Given the description of an element on the screen output the (x, y) to click on. 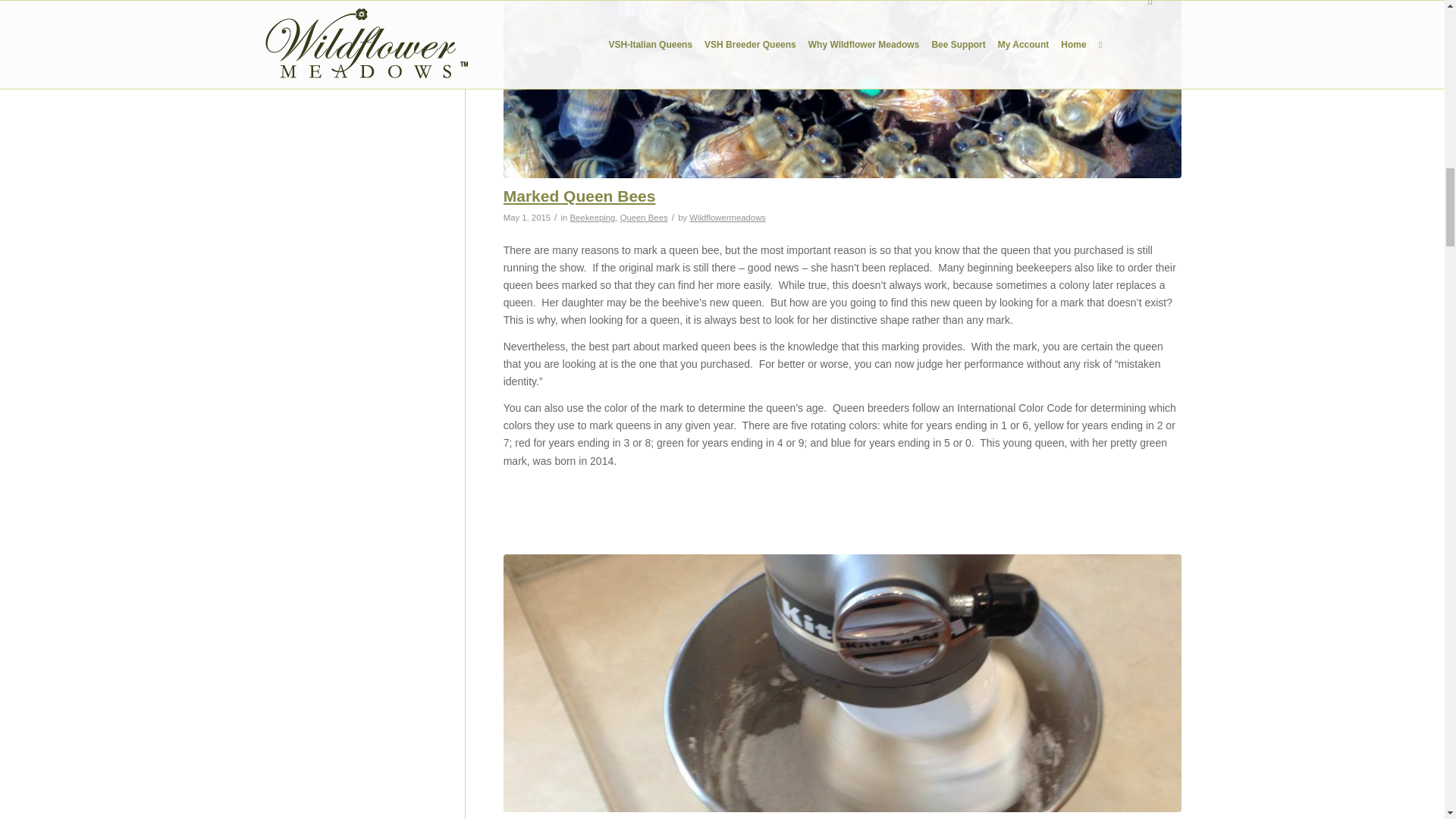
Permanent Link: Marked Queen Bees (579, 195)
Beekeeping (592, 216)
Posts by Wildflowermeadows (726, 216)
Marked Queen Bees (579, 195)
Queen Bees (644, 216)
Wildflowermeadows (726, 216)
